Given the description of an element on the screen output the (x, y) to click on. 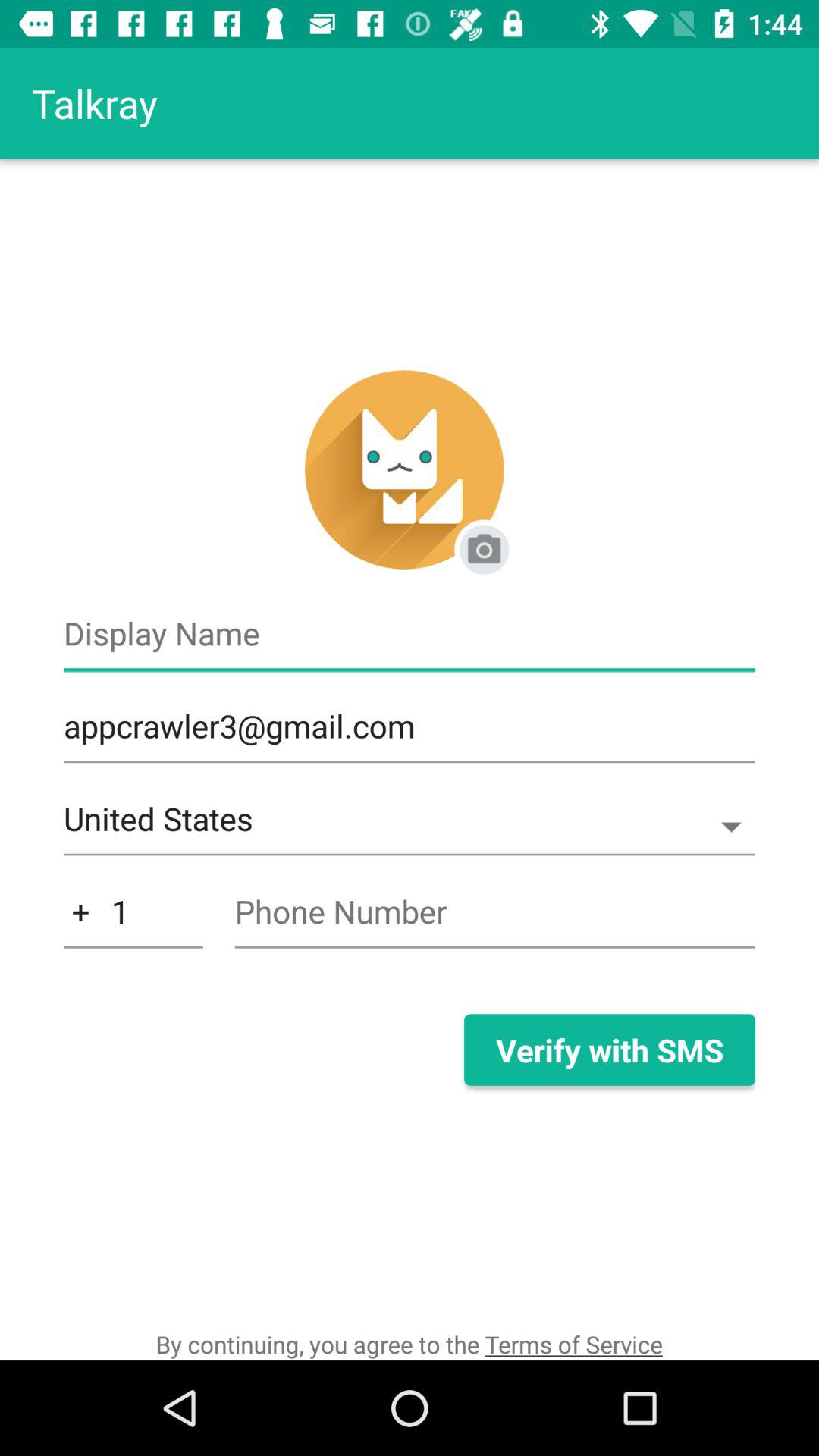
open item above the 1 icon (409, 826)
